Given the description of an element on the screen output the (x, y) to click on. 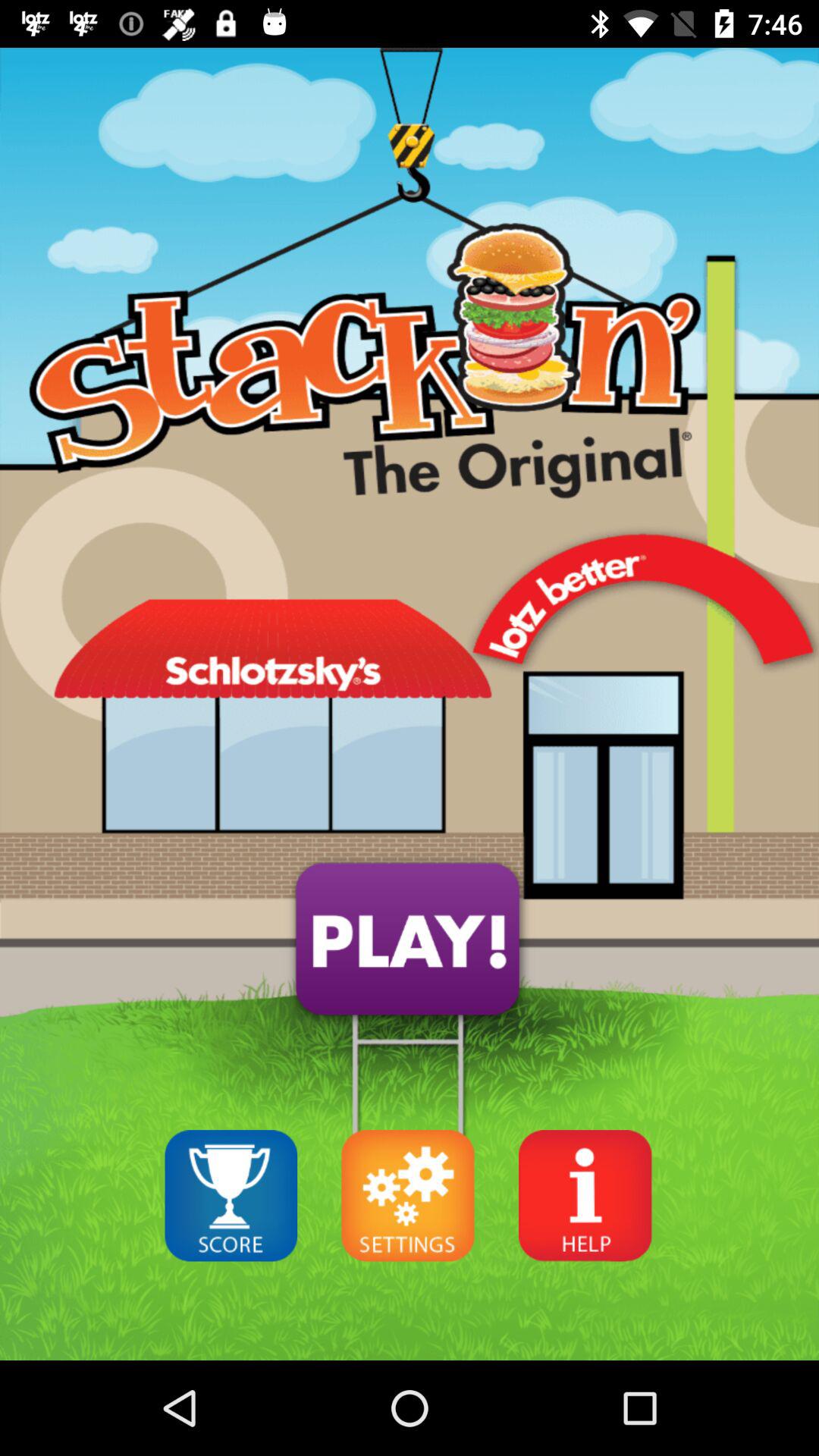
go to help (585, 1195)
